Given the description of an element on the screen output the (x, y) to click on. 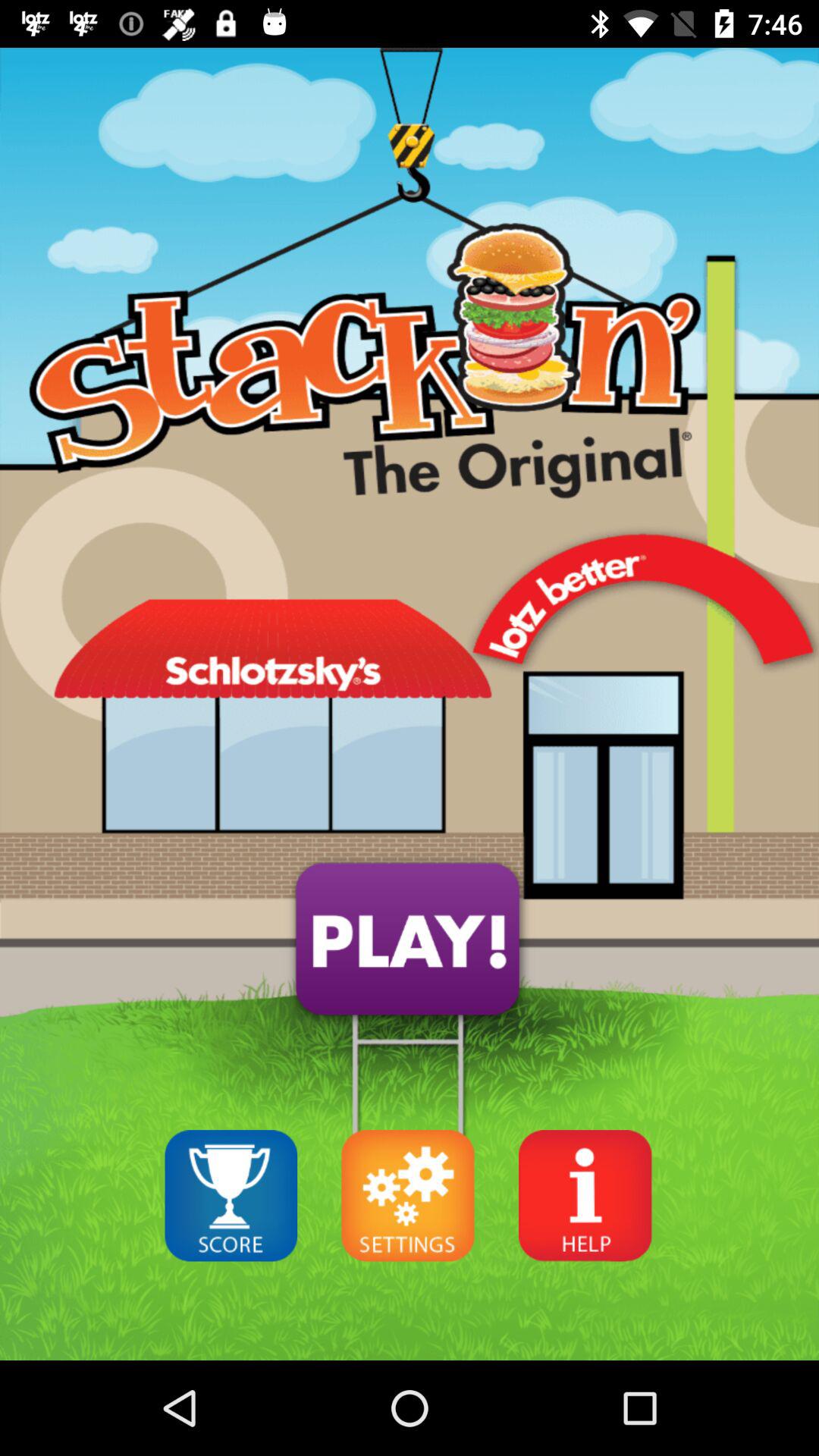
go to help (585, 1195)
